Given the description of an element on the screen output the (x, y) to click on. 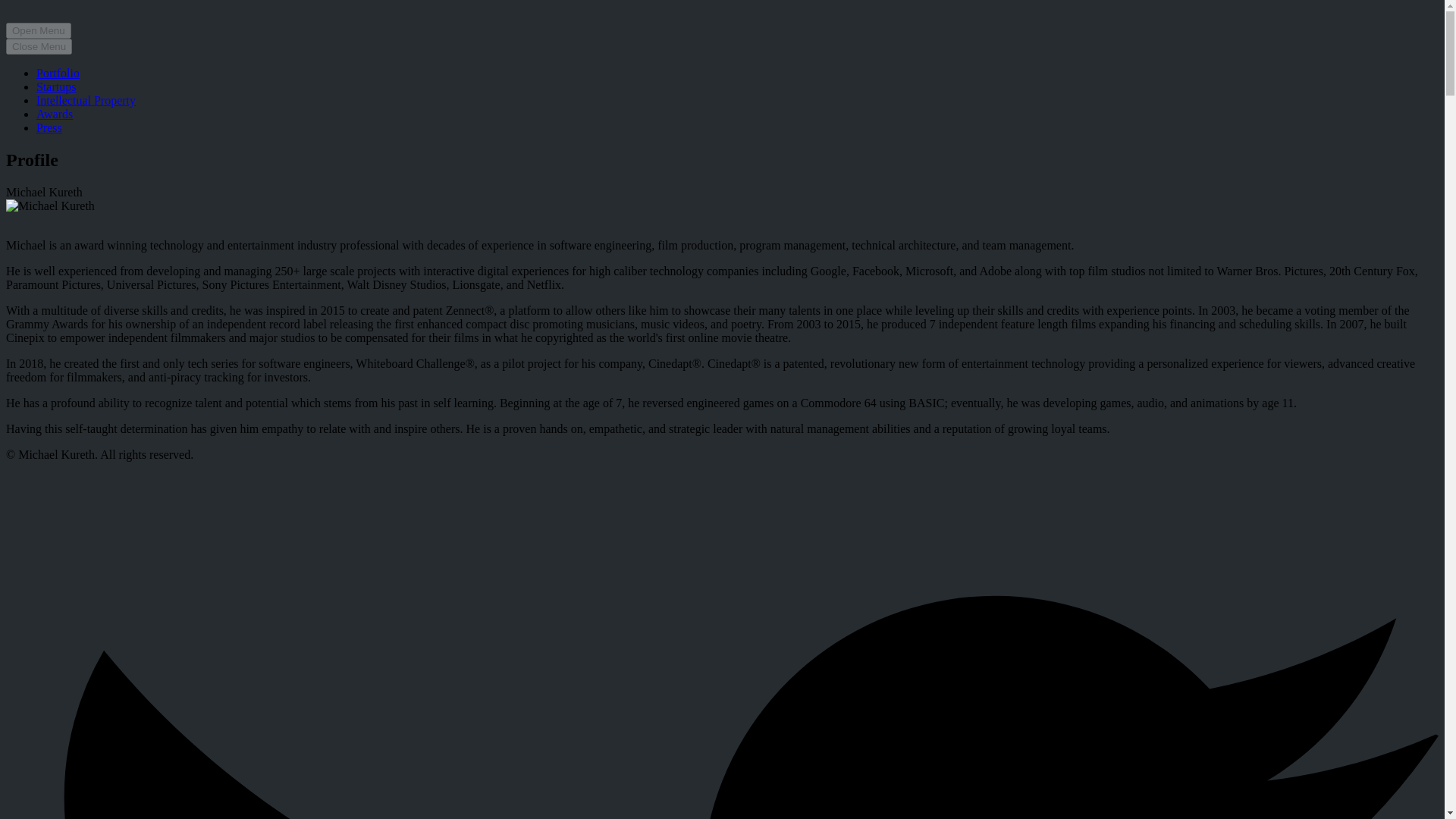
Startups (55, 86)
Portfolio (58, 72)
Awards (54, 113)
Close Menu (38, 46)
Open Menu (38, 30)
Press (49, 127)
Intellectual Property (85, 100)
